Given the description of an element on the screen output the (x, y) to click on. 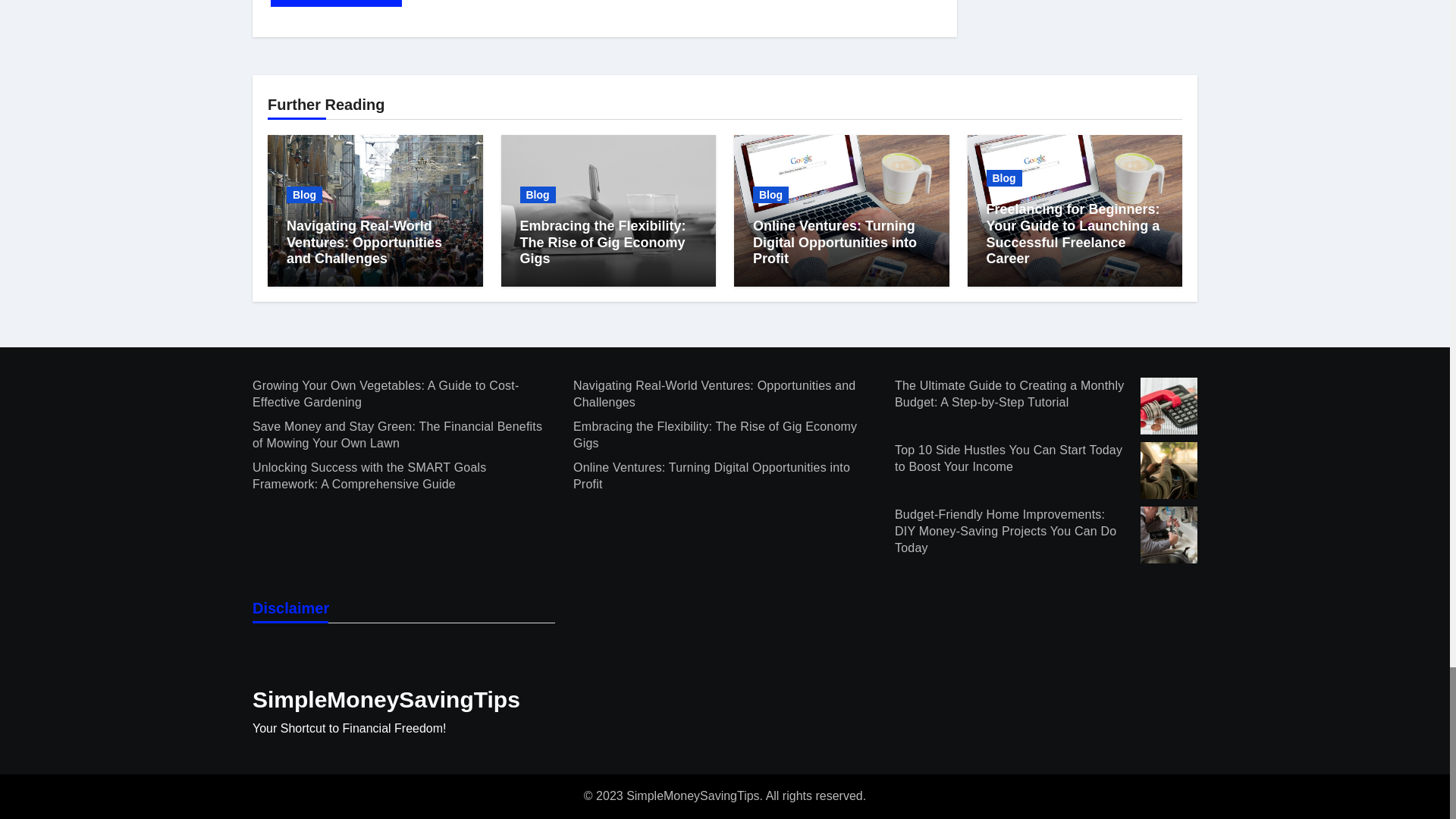
Post Comment (335, 3)
